Given the description of an element on the screen output the (x, y) to click on. 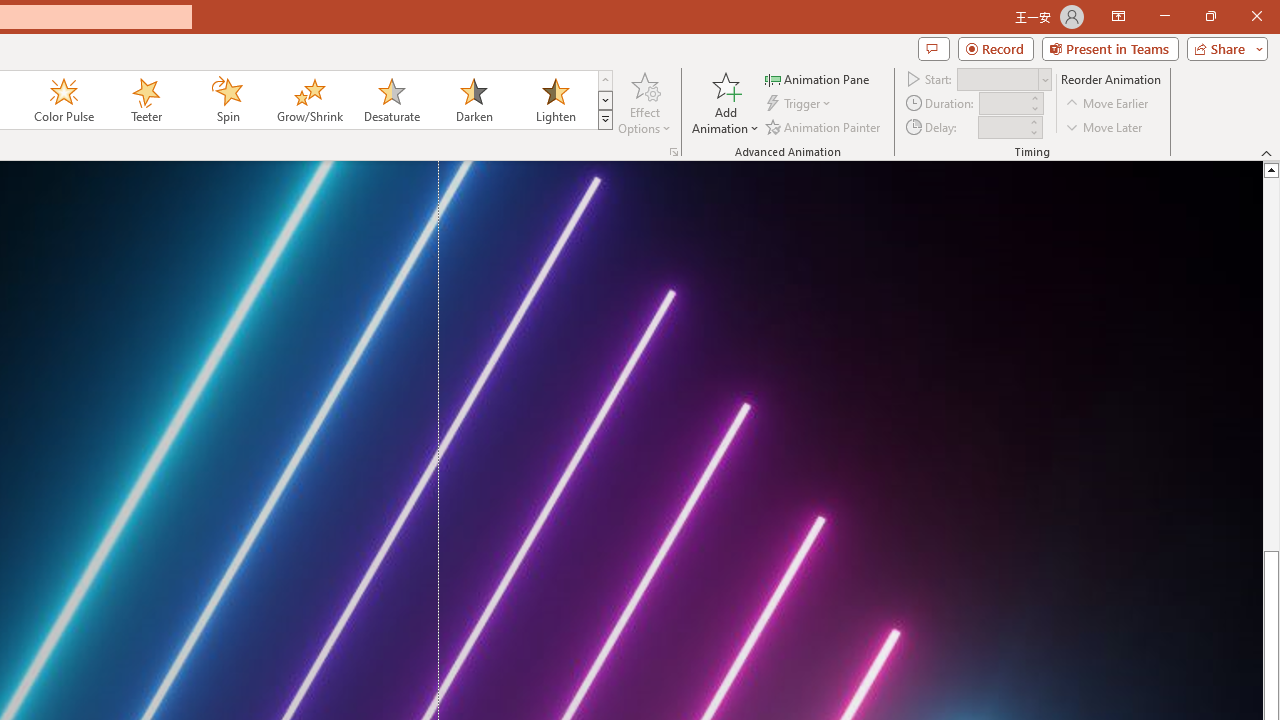
Move Later (1105, 126)
Animation Duration (1003, 103)
